Given the description of an element on the screen output the (x, y) to click on. 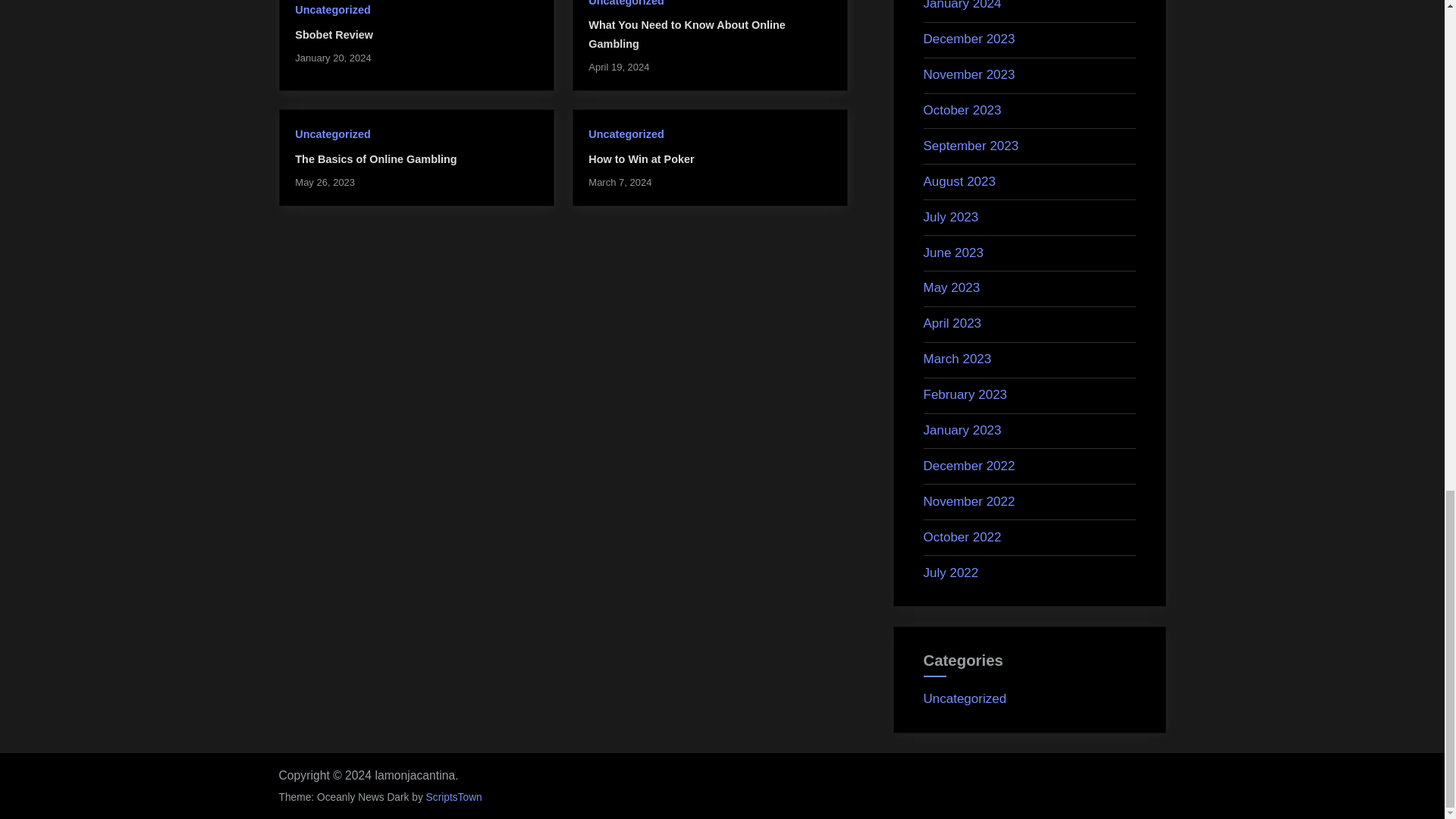
October 2023 (962, 110)
The Basics of Online Gambling (376, 159)
September 2023 (971, 145)
December 2023 (968, 38)
Sbobet Review (333, 34)
May 2023 (951, 287)
August 2023 (959, 181)
How to Win at Poker (641, 159)
Uncategorized (332, 9)
November 2023 (968, 74)
What You Need to Know About Online Gambling (687, 33)
Uncategorized (332, 133)
Uncategorized (625, 3)
July 2023 (950, 216)
June 2023 (953, 252)
